Given the description of an element on the screen output the (x, y) to click on. 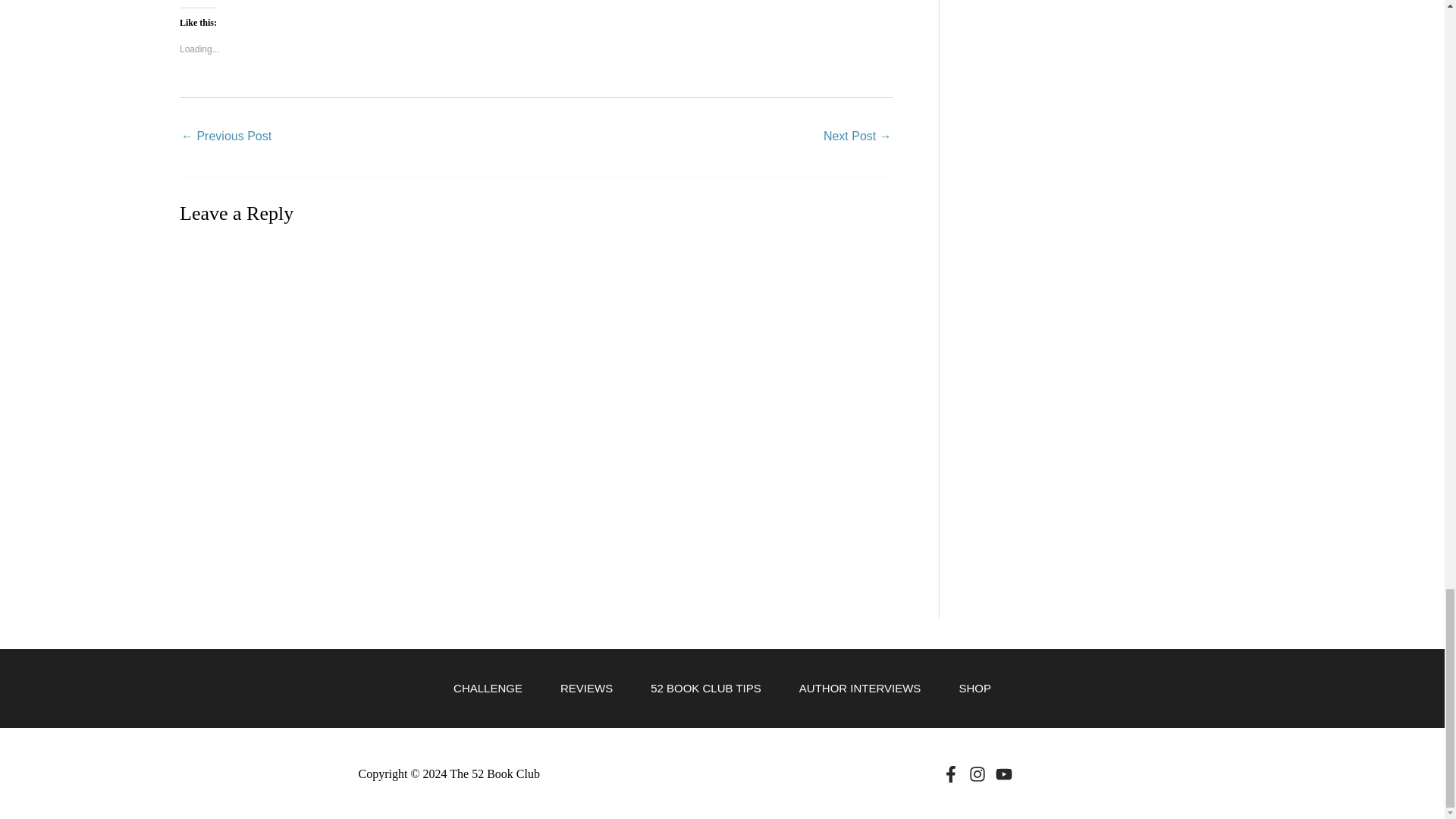
The 52 Book Club 2023 Challenge Journal (225, 137)
April 2024 Mini-Challenge (857, 137)
